Given the description of an element on the screen output the (x, y) to click on. 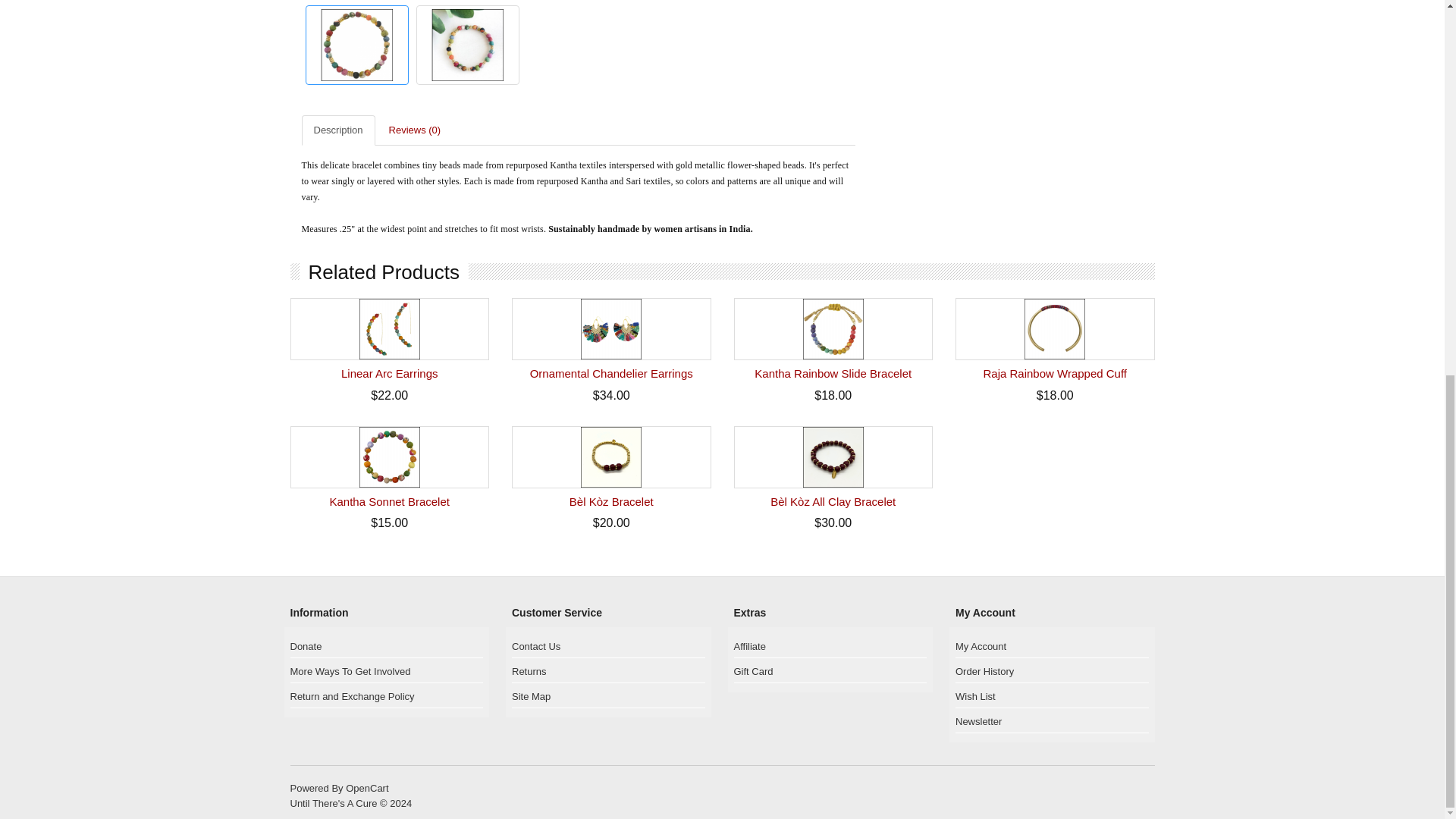
Adorned Kantha Bracelet (355, 44)
Adorned Kantha Bracelet (466, 44)
Linear Arc Earrings (389, 328)
Adorned Kantha Bracelet (356, 45)
Adorned Kantha Bracelet (467, 45)
